Given the description of an element on the screen output the (x, y) to click on. 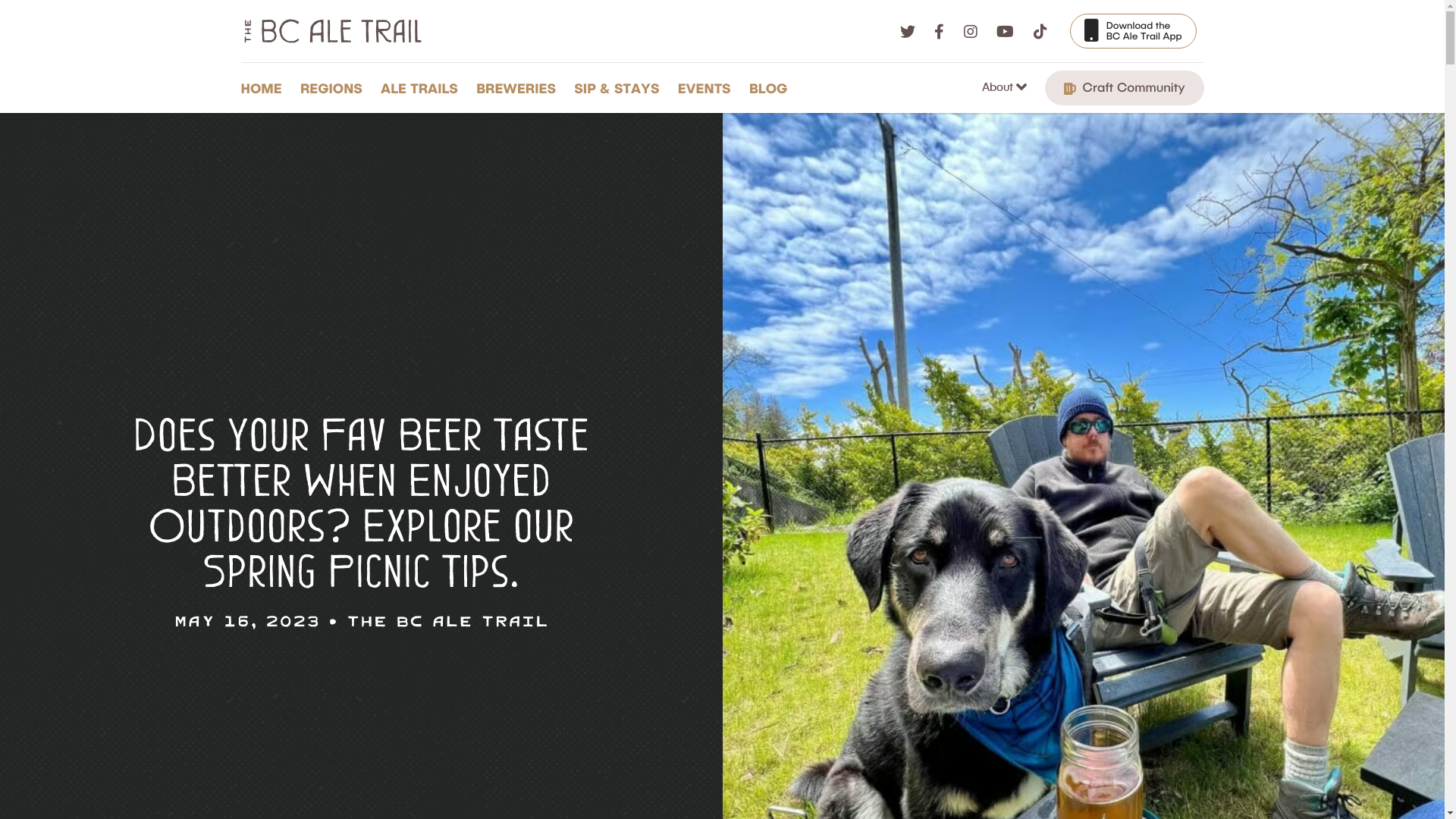
The BC Ale Trail Element type: text (447, 620)
BREWERIES Element type: text (519, 87)
HOME Element type: text (265, 87)
BLOG Element type: text (772, 87)
SIP & STAYS Element type: text (620, 87)
About Element type: text (1007, 87)
Download the
BC Ale Trail App Element type: text (1133, 30)
REGIONS Element type: text (335, 87)
ALE TRAILS Element type: text (422, 87)
EVENTS Element type: text (707, 87)
Craft Community Element type: text (1124, 87)
